Given the description of an element on the screen output the (x, y) to click on. 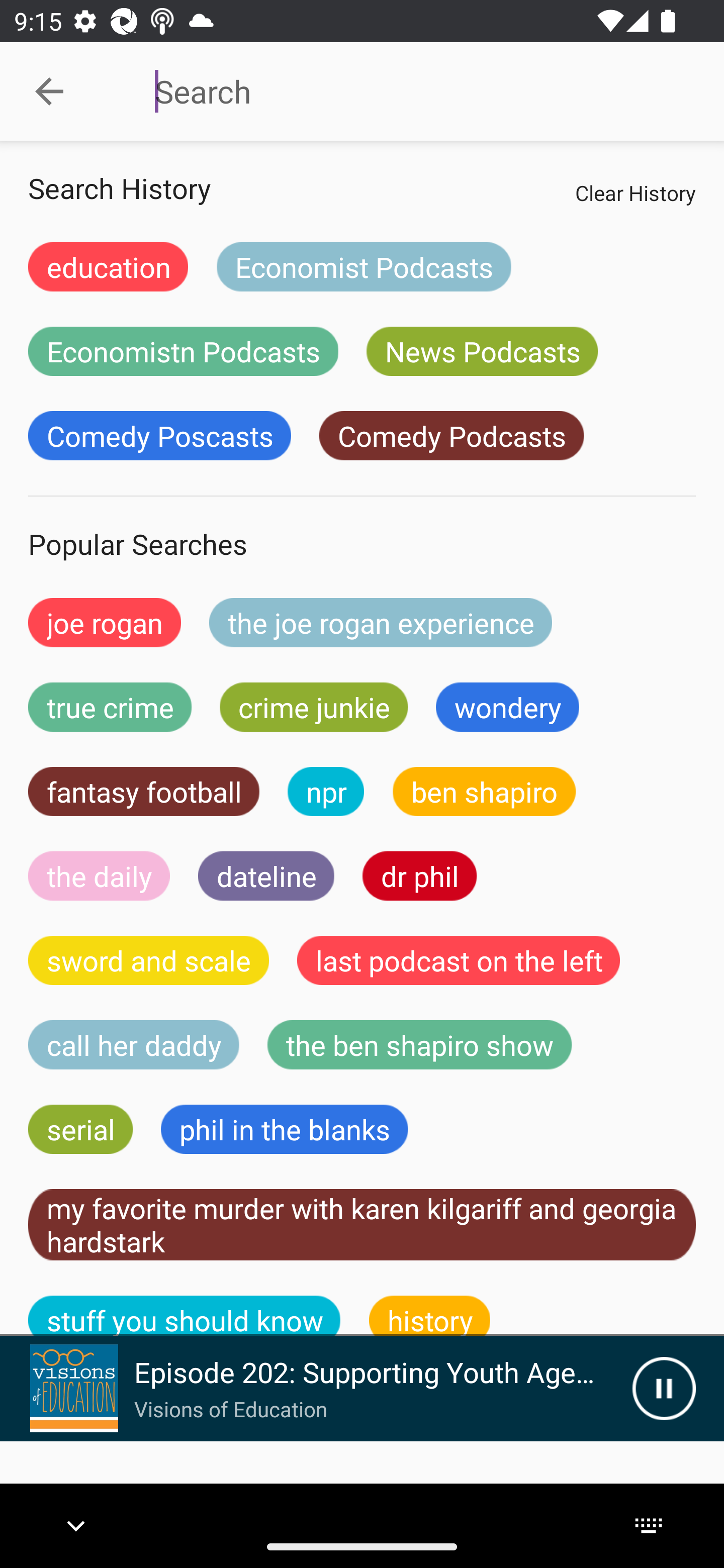
Collapse (49, 91)
Search (407, 91)
Clear History (634, 192)
education (108, 266)
Economist Podcasts (363, 266)
Economistn Podcasts (183, 351)
News Podcasts (482, 351)
Comedy Poscasts (159, 435)
Comedy Podcasts (451, 435)
joe rogan (104, 622)
the joe rogan experience (380, 622)
true crime (109, 707)
crime junkie (313, 707)
wondery (507, 707)
fantasy football (143, 791)
npr (325, 791)
ben shapiro (483, 791)
the daily (99, 875)
dateline (266, 875)
dr phil (419, 875)
sword and scale (148, 960)
last podcast on the left (458, 960)
call her daddy (133, 1044)
the ben shapiro show (419, 1044)
serial (80, 1128)
phil in the blanks (283, 1128)
stuff you should know (184, 1315)
history (429, 1315)
Pause (663, 1388)
